Given the description of an element on the screen output the (x, y) to click on. 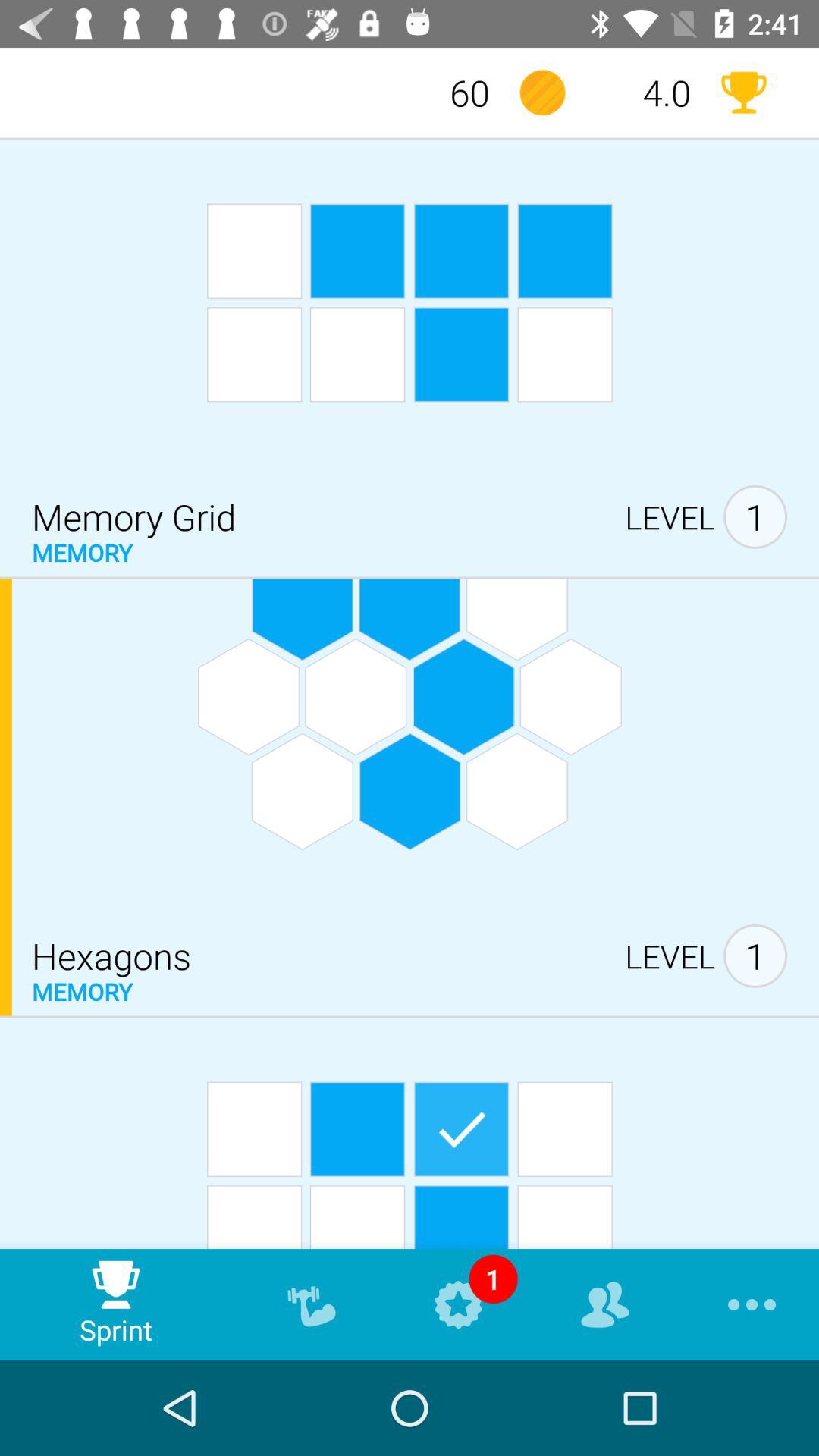
click the item next to the 4.0 (743, 92)
